Given the description of an element on the screen output the (x, y) to click on. 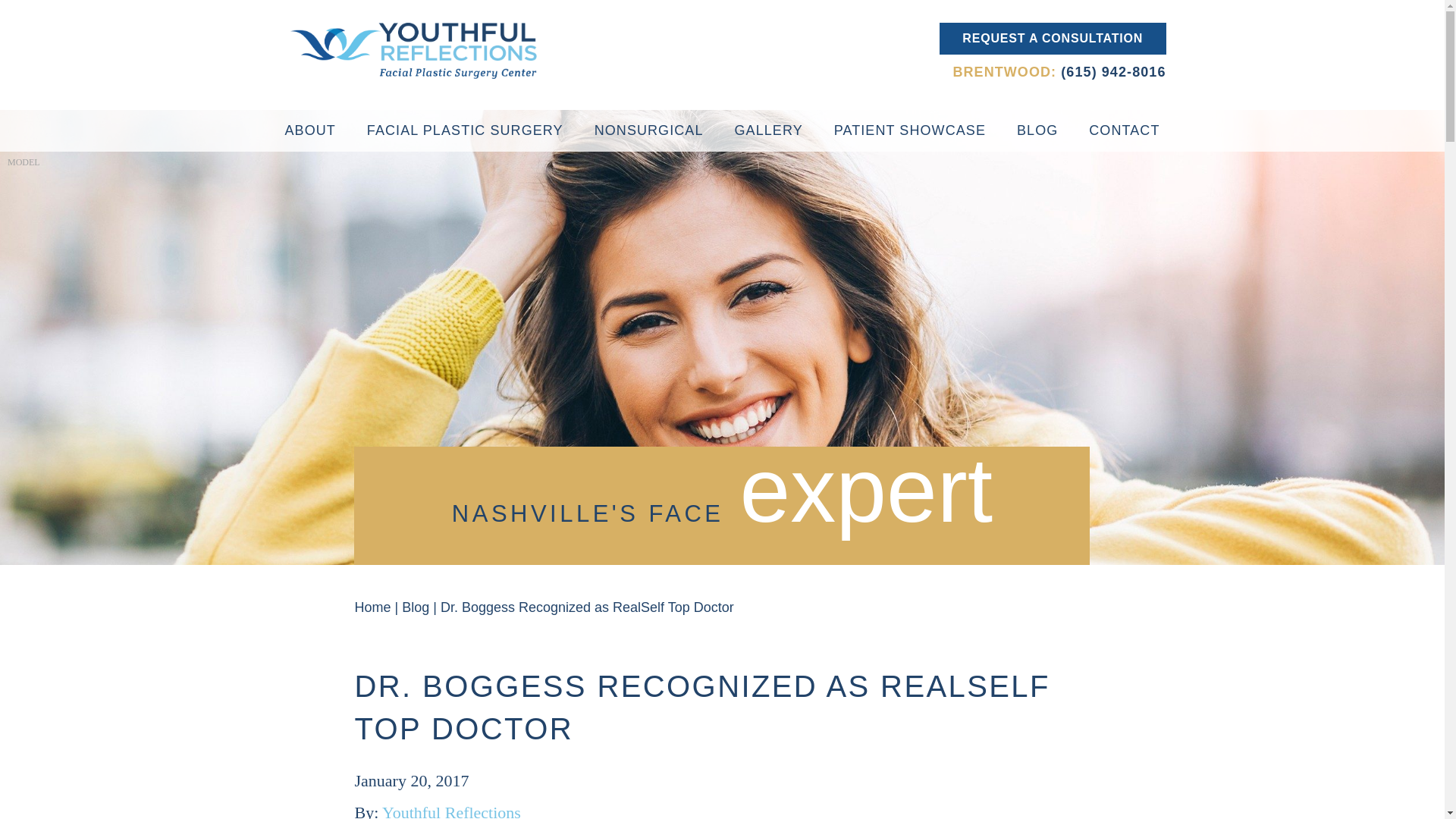
Home (371, 607)
BLOG (1037, 130)
PATIENT SHOWCASE (909, 130)
CONTACT (1124, 130)
NONSURGICAL (649, 130)
Blog (415, 607)
GALLERY (768, 130)
Go to Youthful Reflections. (371, 607)
View all posts by Youthful Reflections (451, 811)
Youthful Reflections (451, 811)
